Given the description of an element on the screen output the (x, y) to click on. 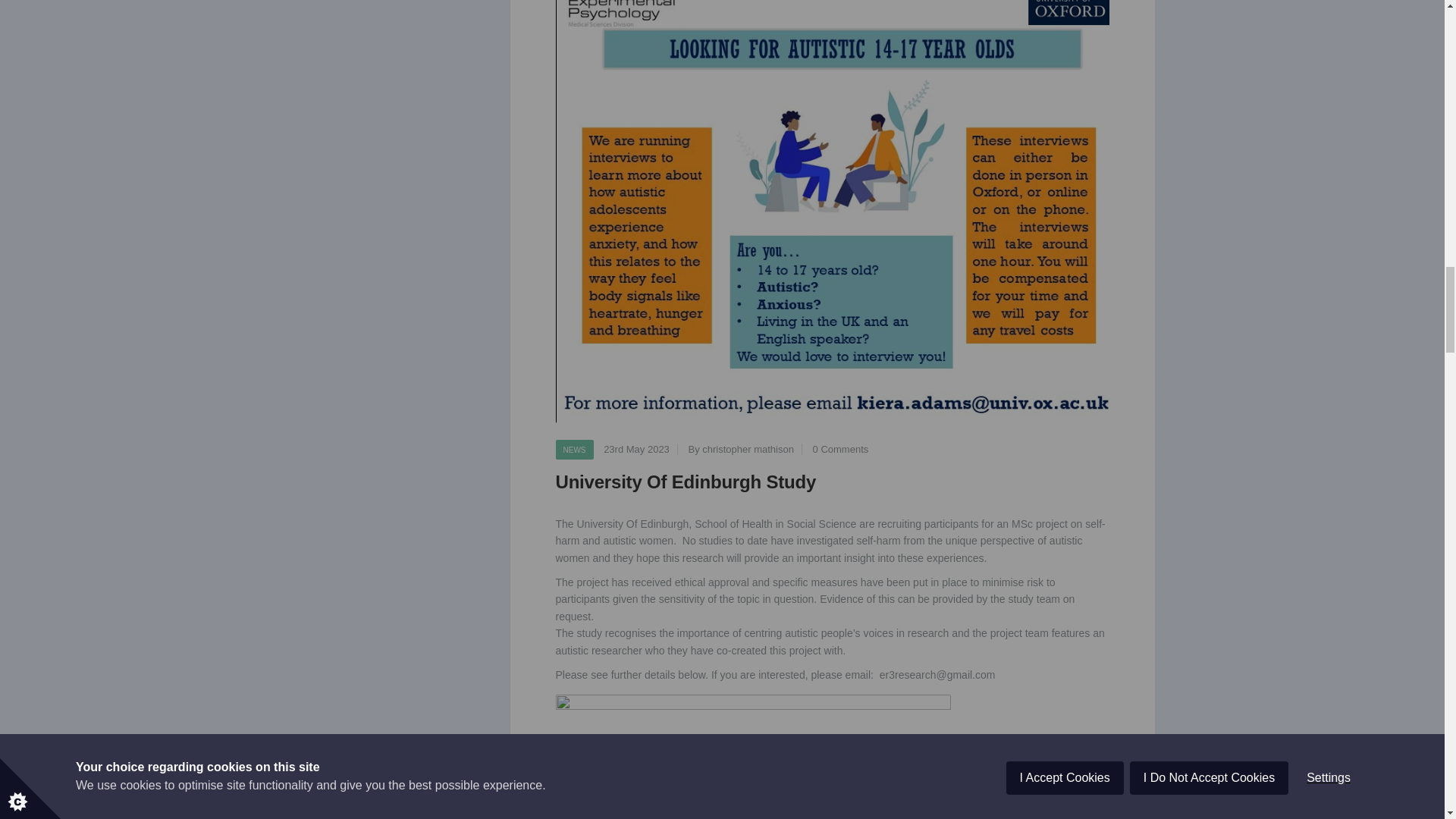
University Of Edinburgh Study (684, 481)
CONFERENCES (1002, 764)
NEWS (573, 449)
0 Comments (840, 449)
0 Comments (1052, 799)
